Given the description of an element on the screen output the (x, y) to click on. 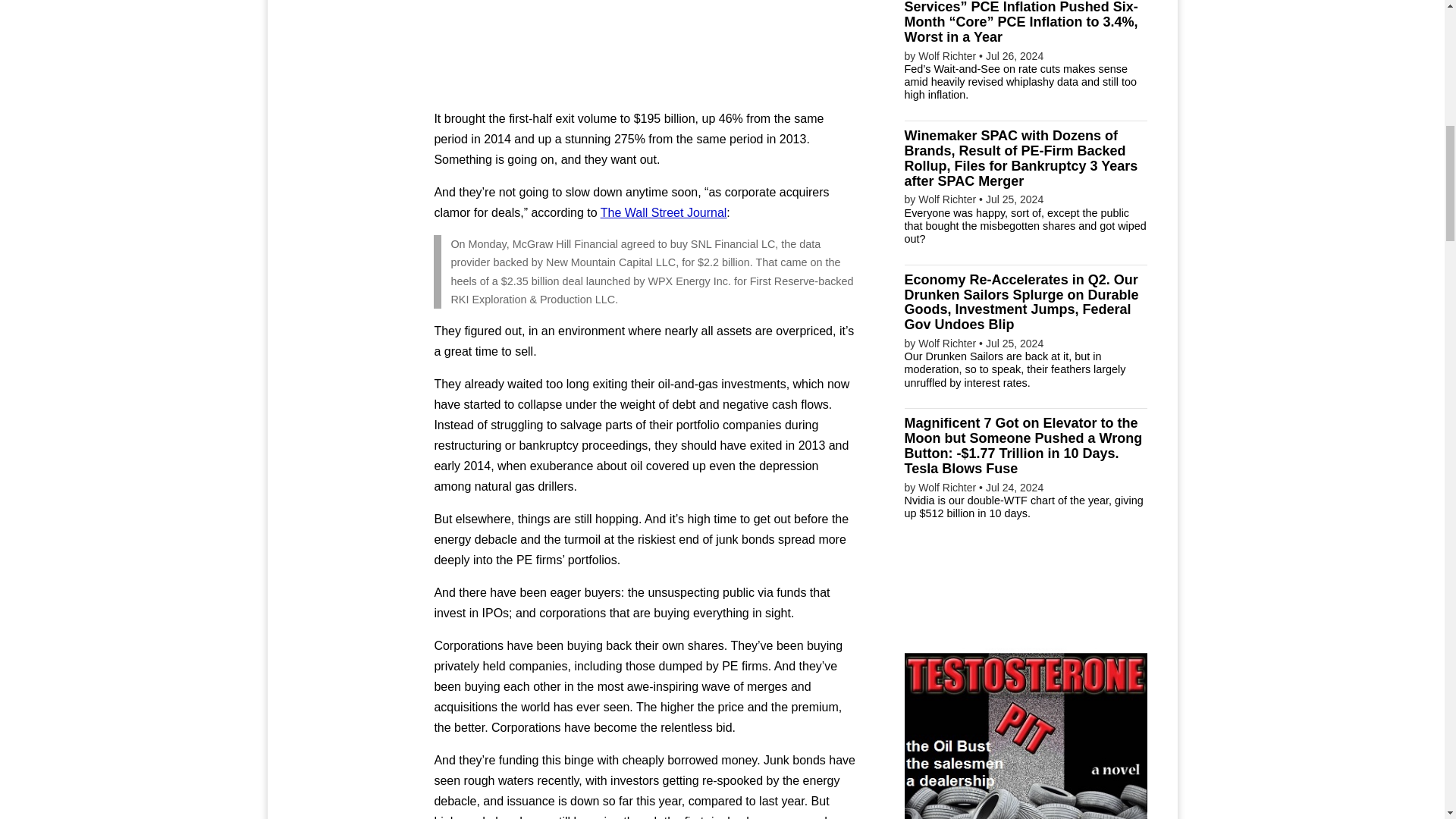
The Wall Street Journal (662, 212)
